Given the description of an element on the screen output the (x, y) to click on. 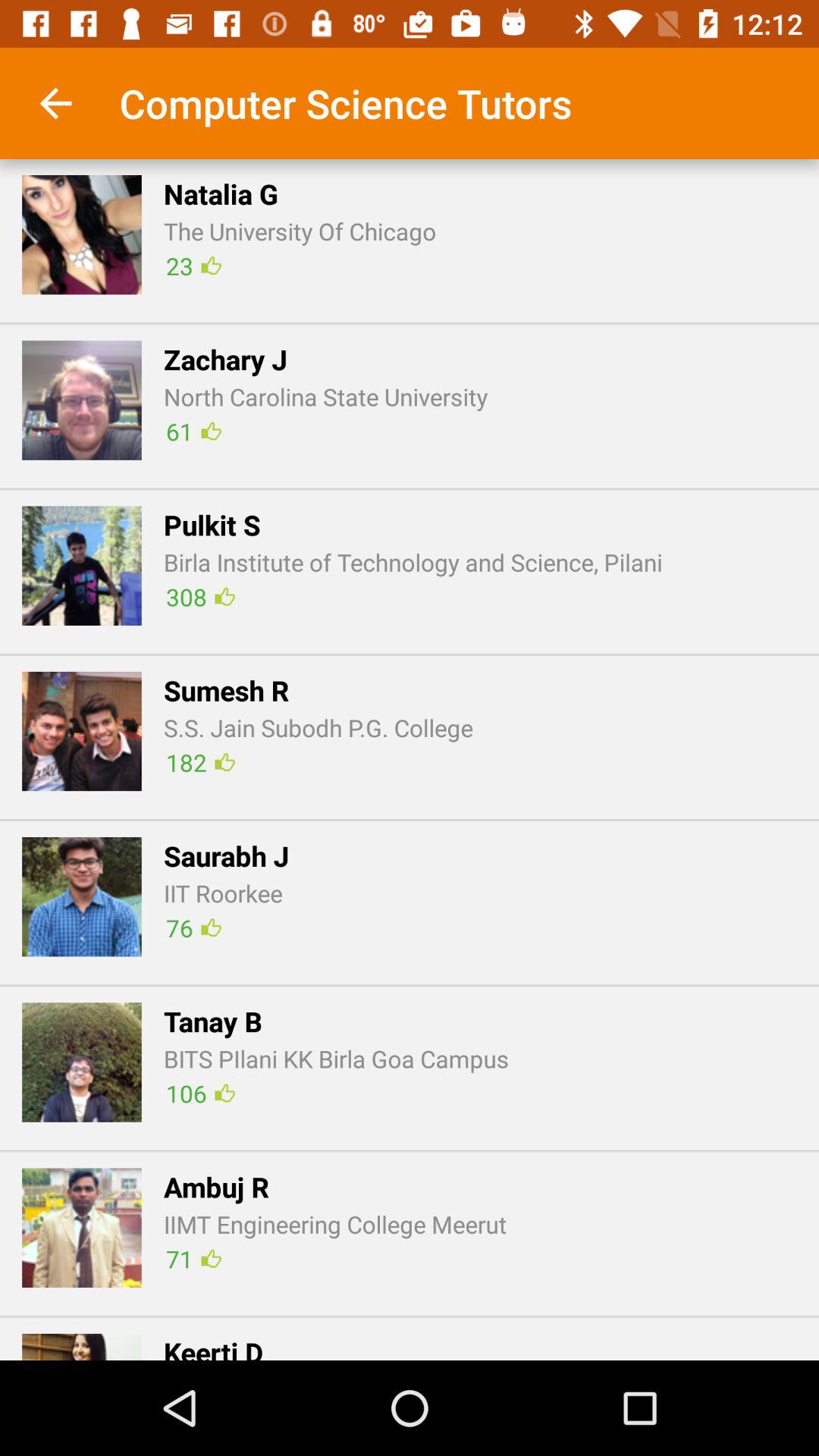
press the app below the computer science tutors item (220, 193)
